Given the description of an element on the screen output the (x, y) to click on. 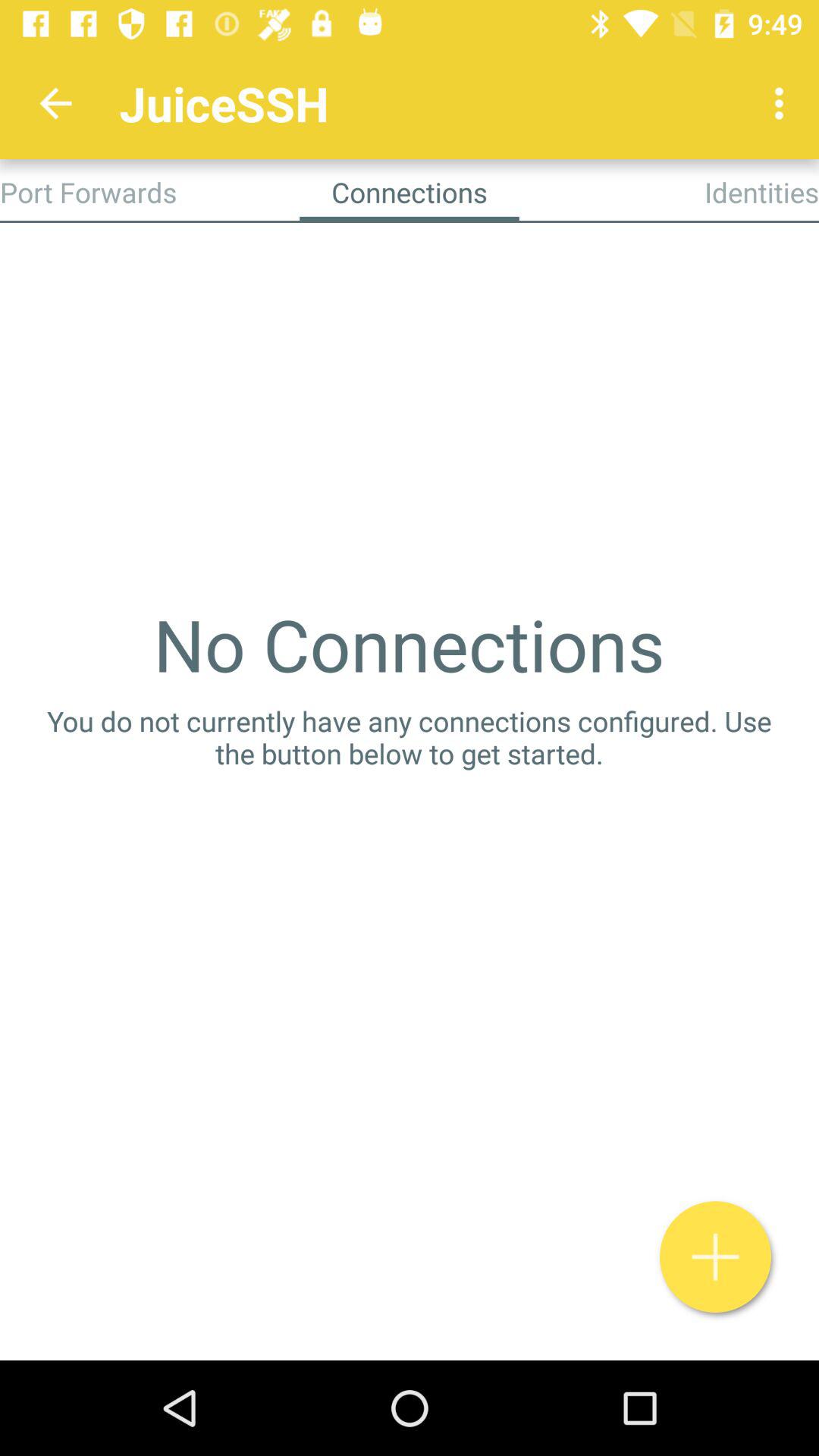
launch icon next to the juicessh (55, 103)
